Given the description of an element on the screen output the (x, y) to click on. 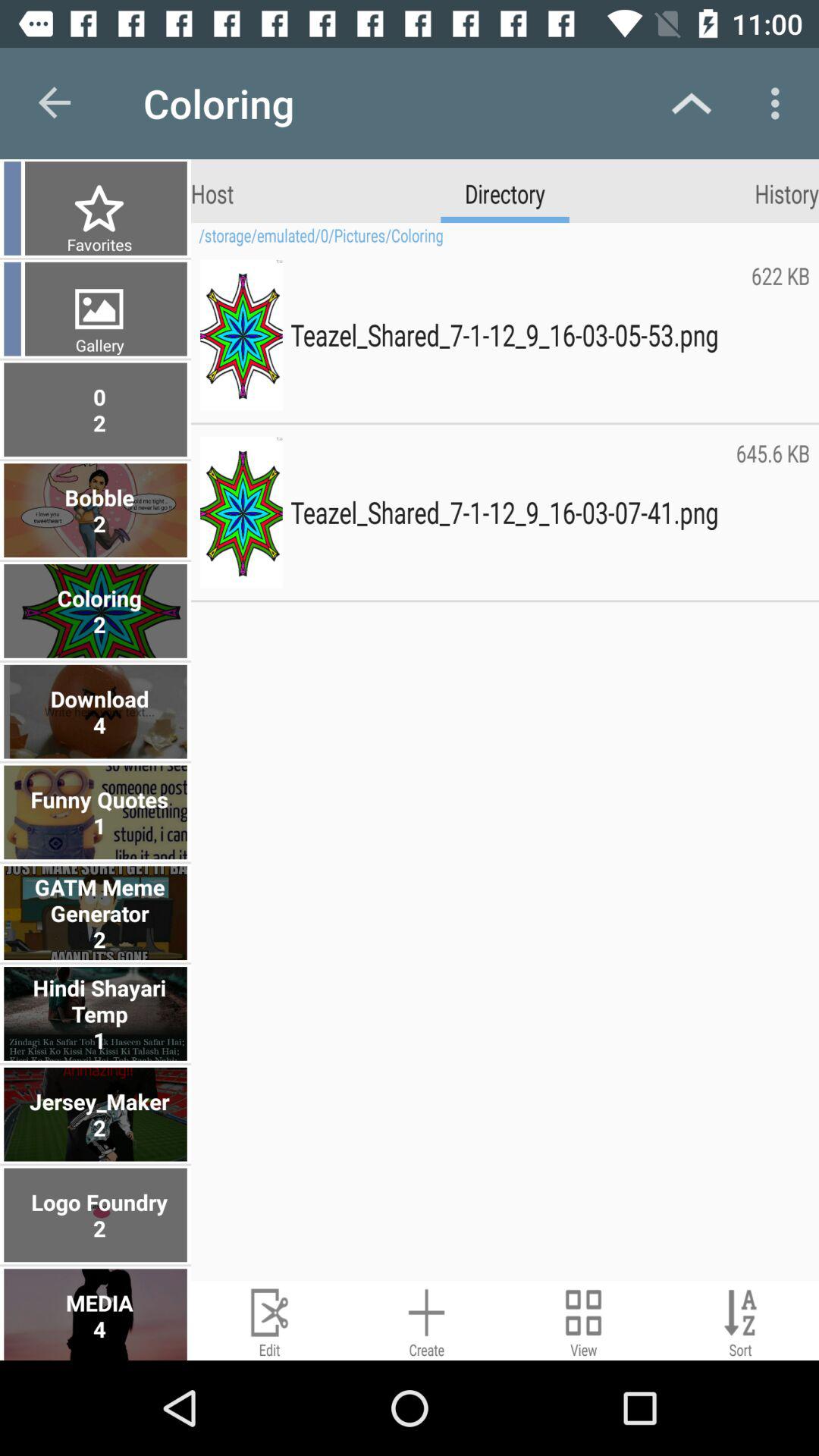
sort alphabeticaly (740, 1320)
